Given the description of an element on the screen output the (x, y) to click on. 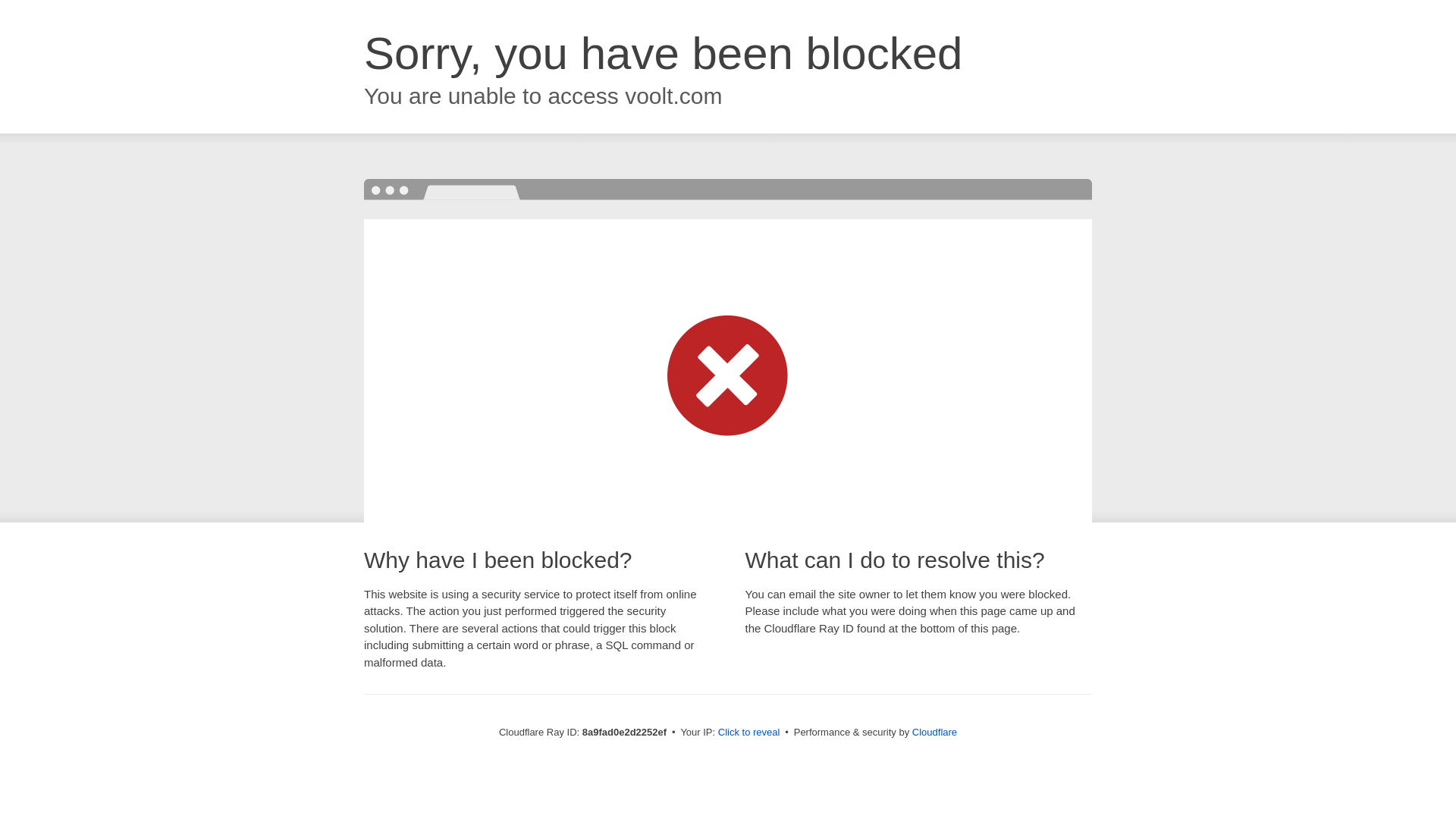
Click to reveal (748, 732)
Cloudflare (934, 731)
